Given the description of an element on the screen output the (x, y) to click on. 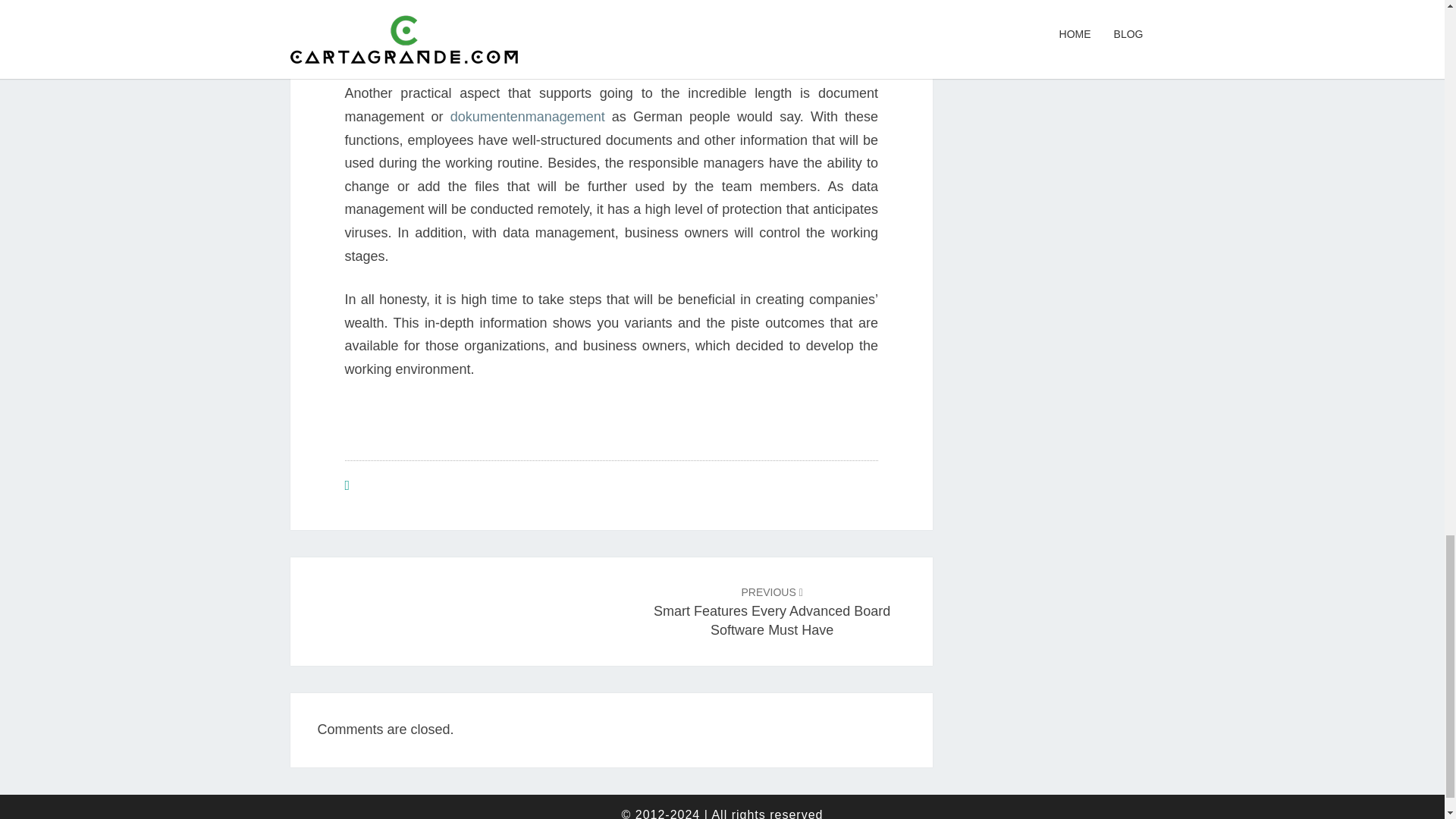
dokumentenmanagement (527, 116)
